Given the description of an element on the screen output the (x, y) to click on. 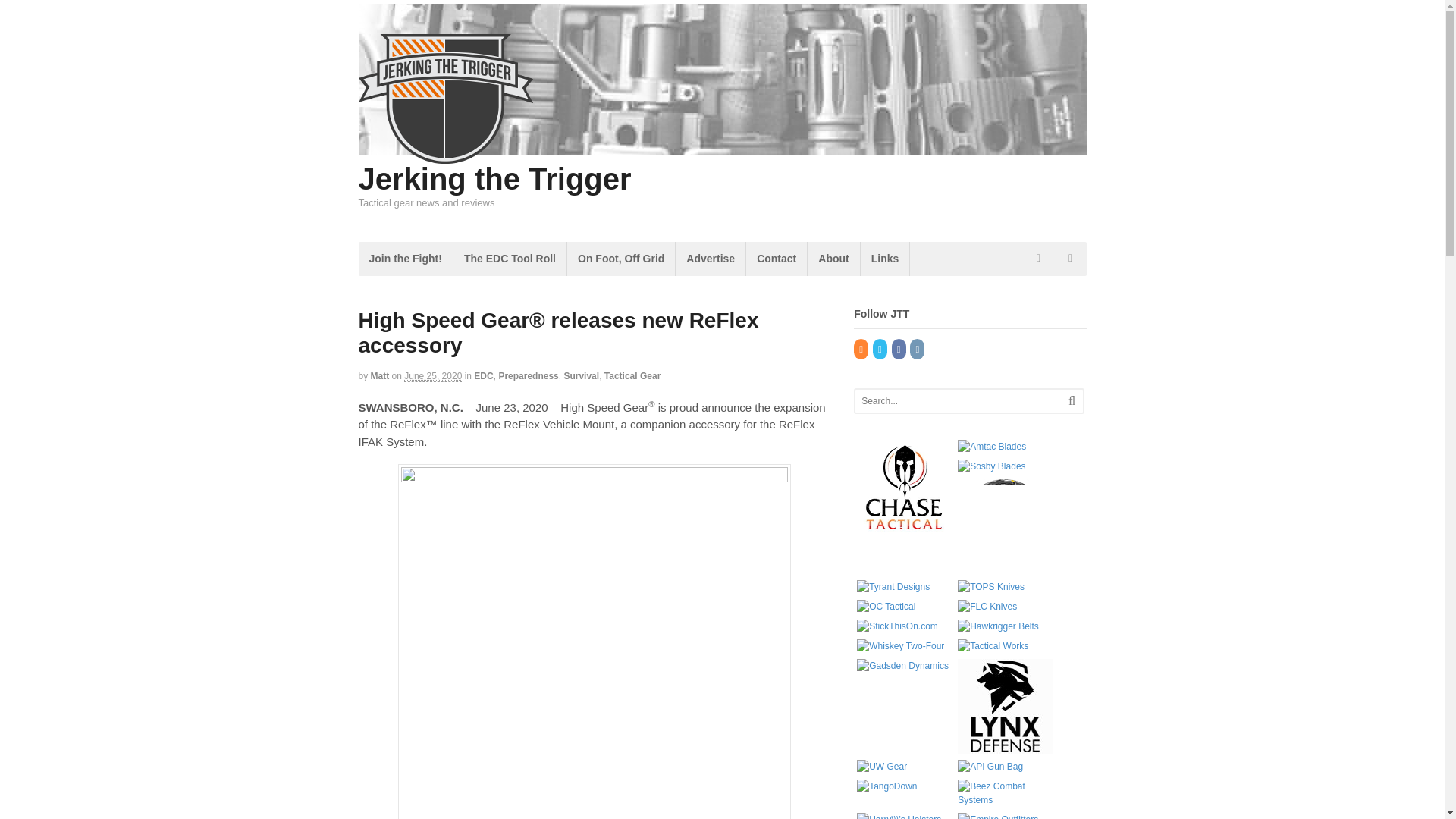
The EDC Tool Roll (509, 258)
About (833, 258)
Survival (580, 376)
Tactical gear news and reviews (445, 155)
View all items in EDC (483, 376)
Tactical Gear (632, 376)
2020-06-25T07:16:45-0700 (432, 376)
Join the Fight! (404, 258)
Preparedness (527, 376)
Matt (380, 376)
